Given the description of an element on the screen output the (x, y) to click on. 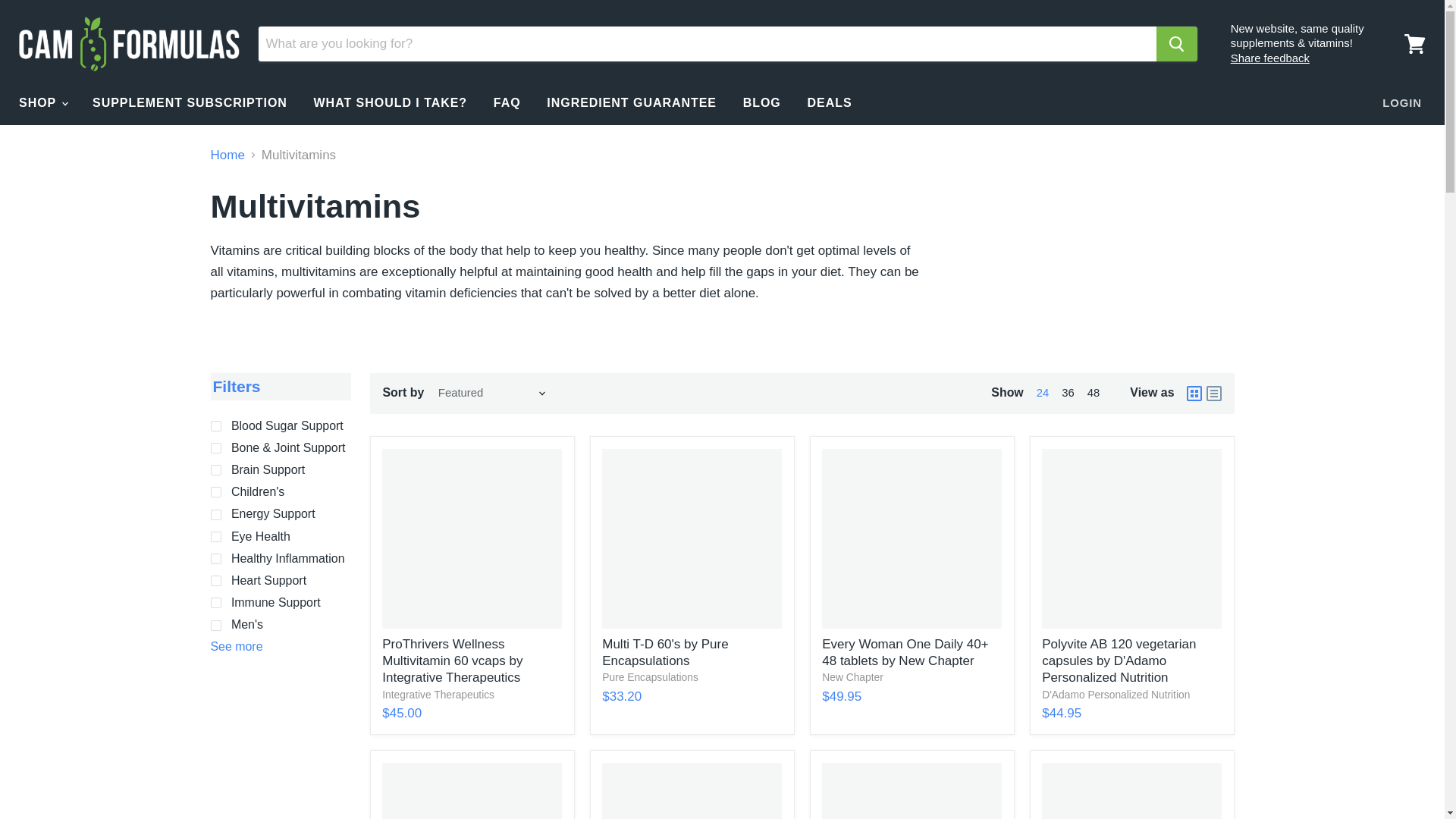
Website Feedback (1269, 58)
Share feedback (1269, 58)
View cart (1414, 43)
SHOP (42, 102)
